Given the description of an element on the screen output the (x, y) to click on. 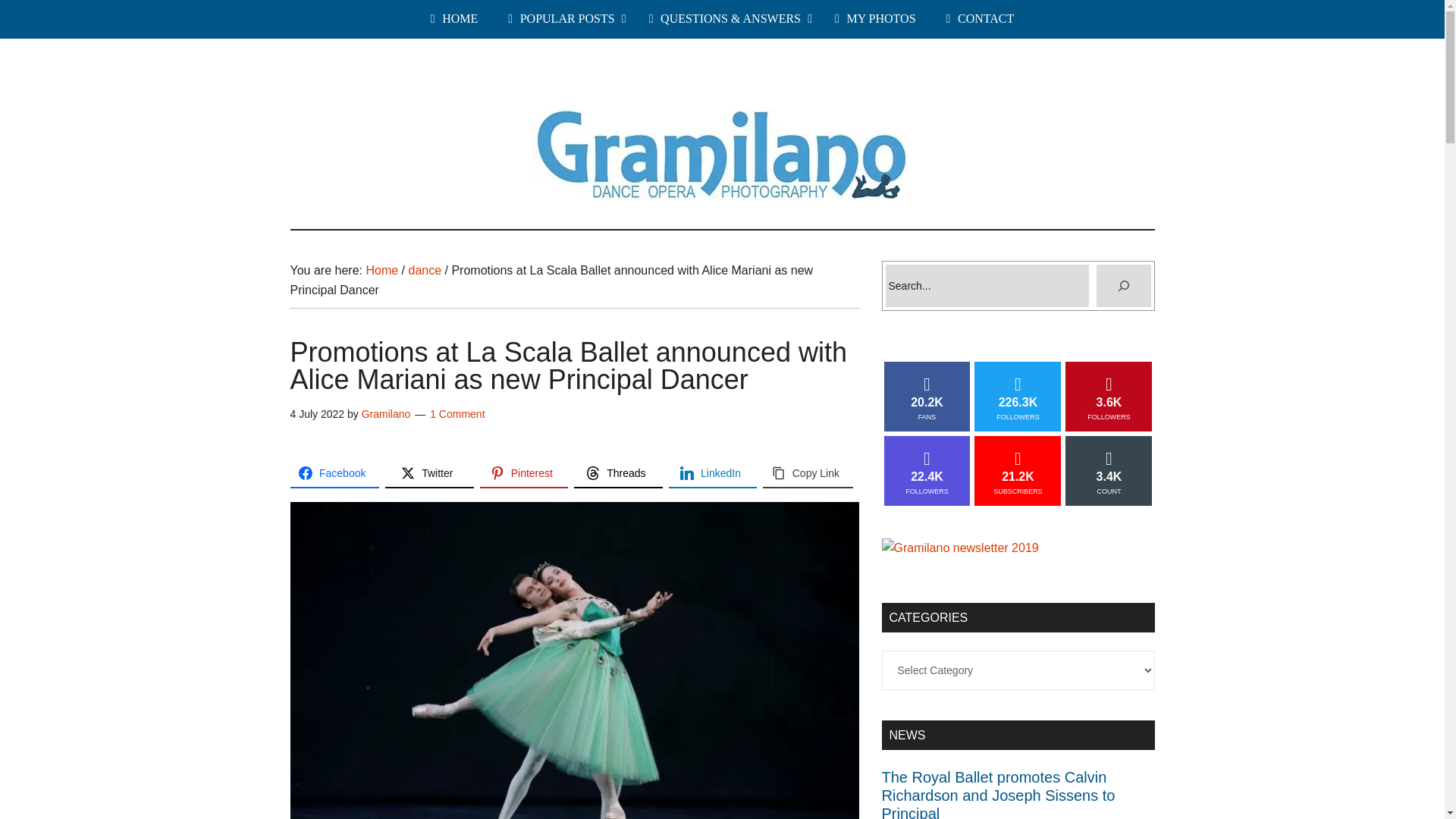
MY PHOTOS (875, 19)
POPULAR POSTS (563, 19)
Twitter (429, 473)
Share on Twitter (429, 473)
HOME (453, 19)
1 Comment (456, 413)
Share on Threads (617, 473)
LinkedIn (712, 473)
Share on Copy Link (806, 473)
Facebook (333, 473)
dance (424, 269)
CONTACT (980, 19)
Pinterest (524, 473)
Gramilano (385, 413)
